Given the description of an element on the screen output the (x, y) to click on. 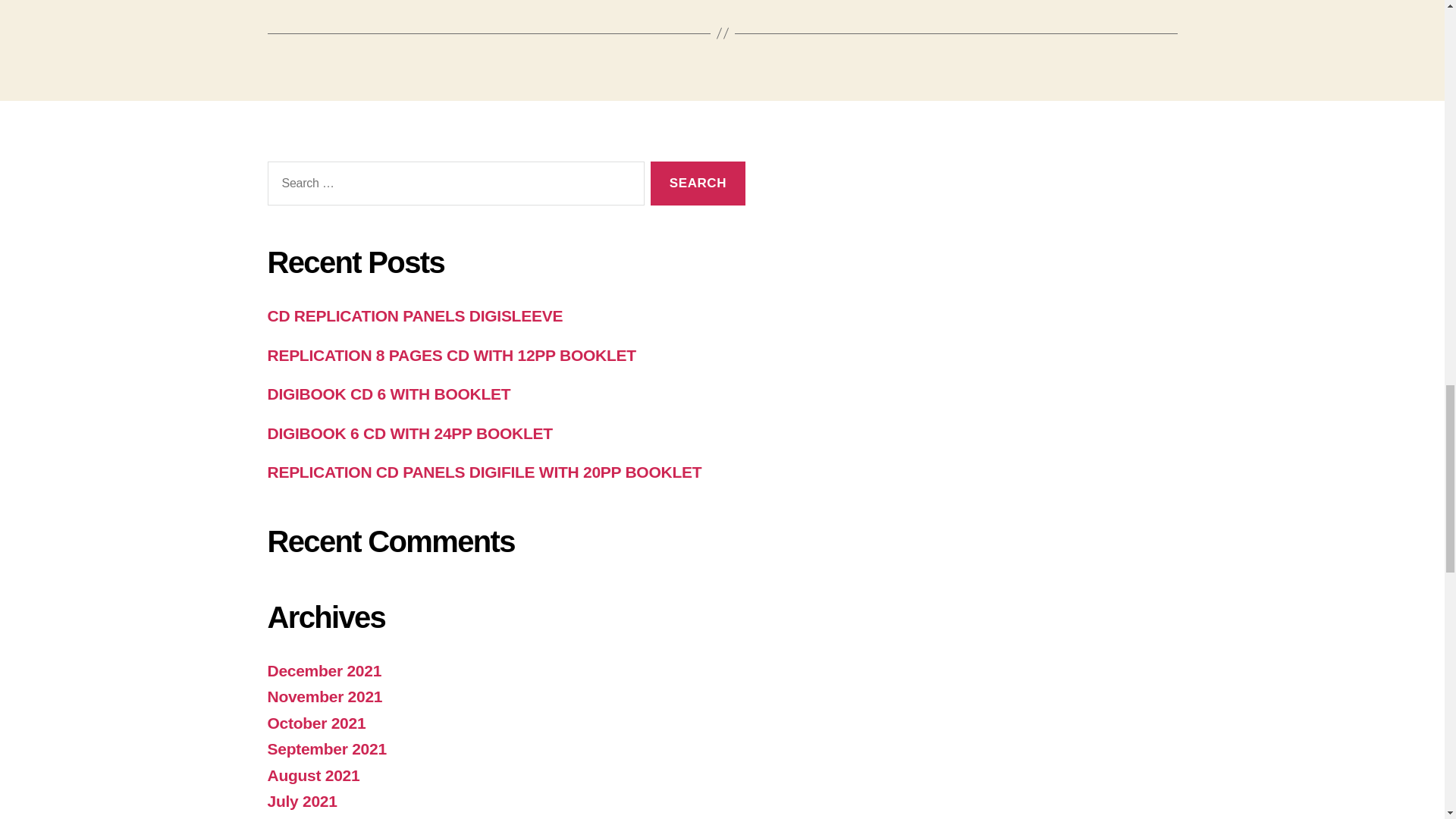
REPLICATION CD PANELS DIGIFILE WITH 20PP BOOKLET (483, 471)
September 2021 (325, 748)
Search (697, 183)
November 2021 (323, 696)
REPLICATION 8 PAGES CD WITH 12PP BOOKLET (450, 354)
October 2021 (315, 723)
DIGIBOOK 6 CD WITH 24PP BOOKLET (408, 433)
Search (697, 183)
July 2021 (301, 800)
Search (697, 183)
DIGIBOOK CD 6 WITH BOOKLET (388, 393)
August 2021 (312, 774)
December 2021 (323, 670)
CD REPLICATION PANELS DIGISLEEVE (414, 315)
